Given the description of an element on the screen output the (x, y) to click on. 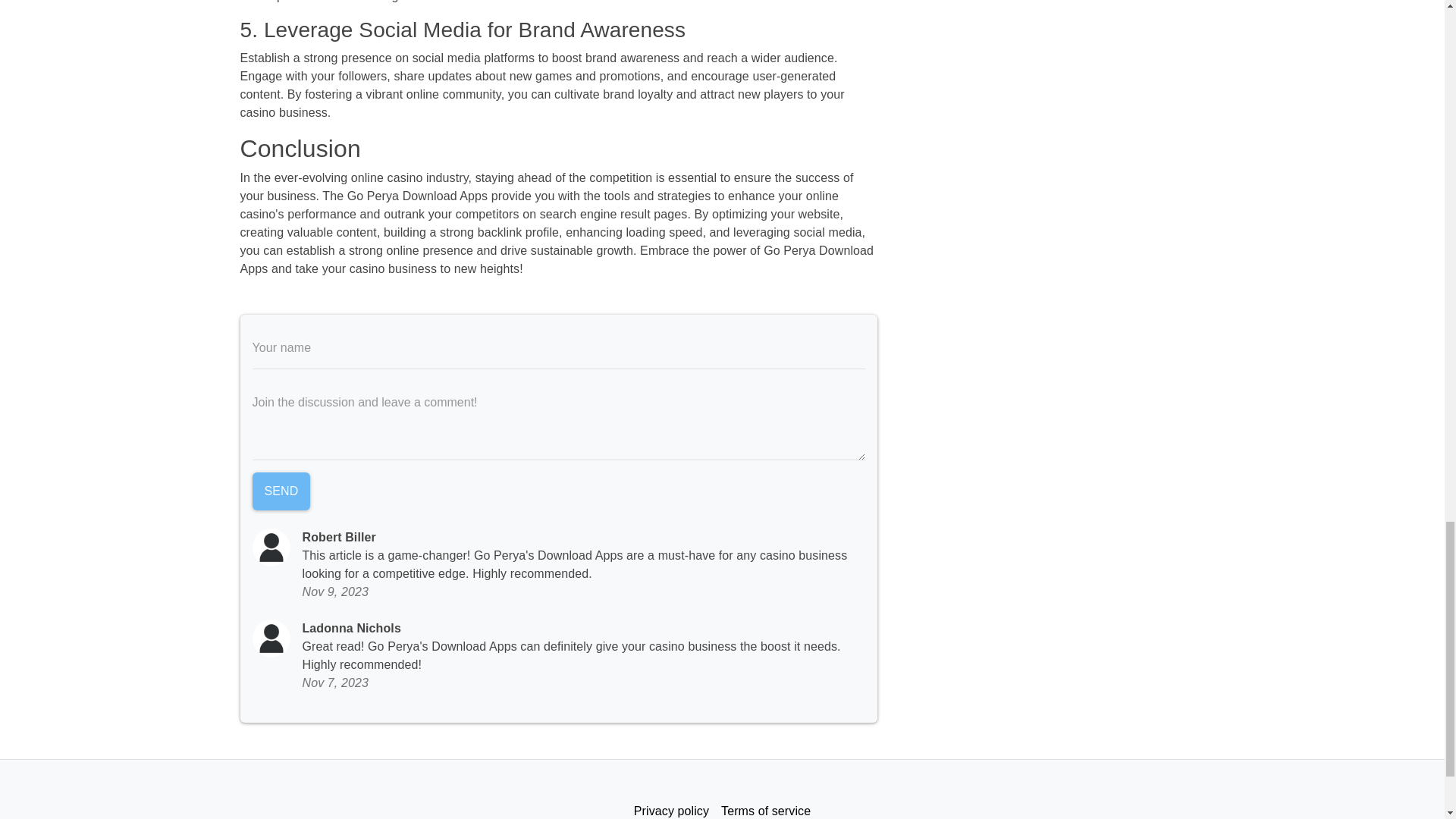
Send (280, 491)
Send (280, 491)
Terms of service (765, 807)
Privacy policy (670, 807)
